Given the description of an element on the screen output the (x, y) to click on. 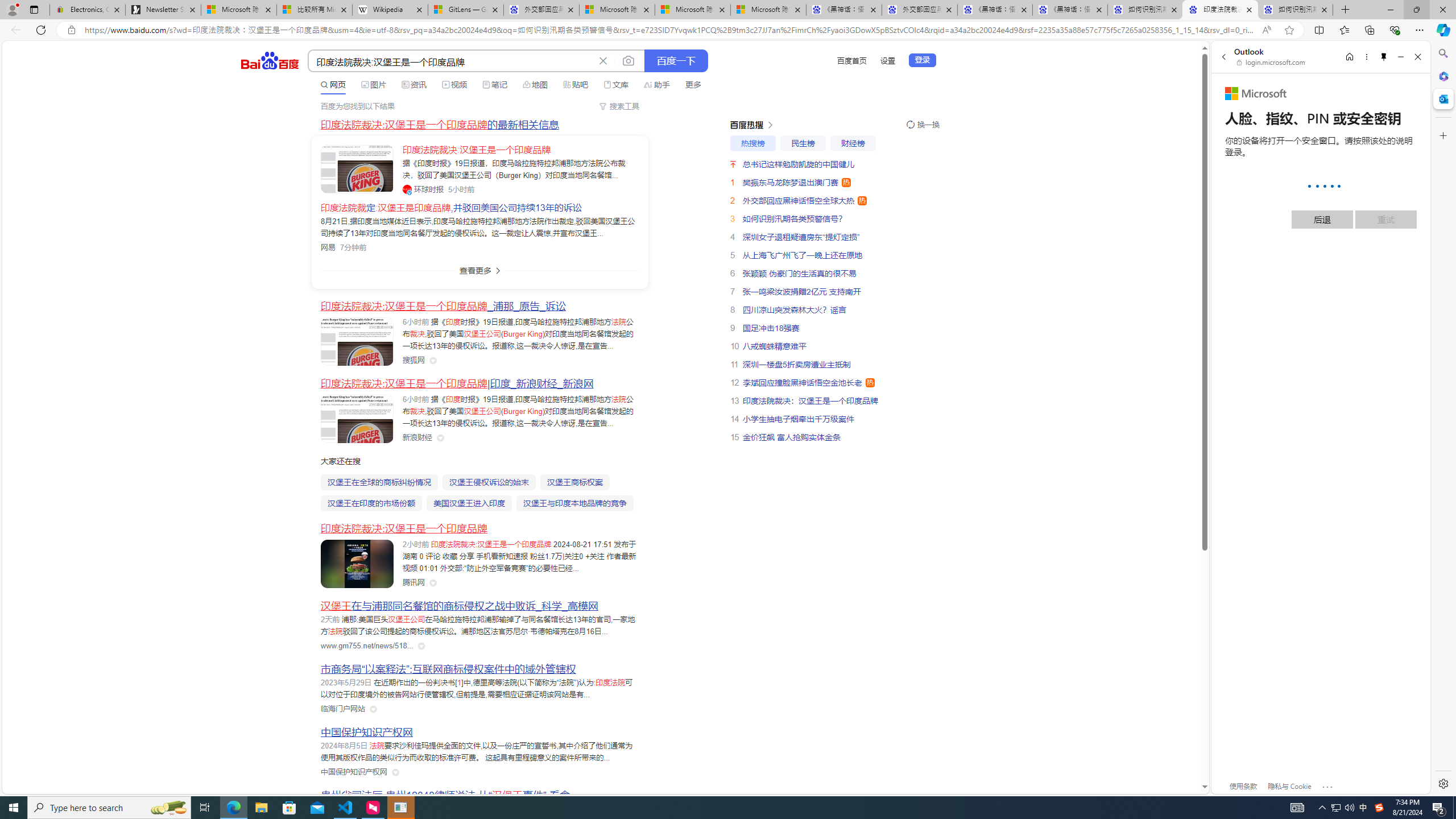
Microsoft (1255, 93)
Wikipedia (389, 9)
